Given the description of an element on the screen output the (x, y) to click on. 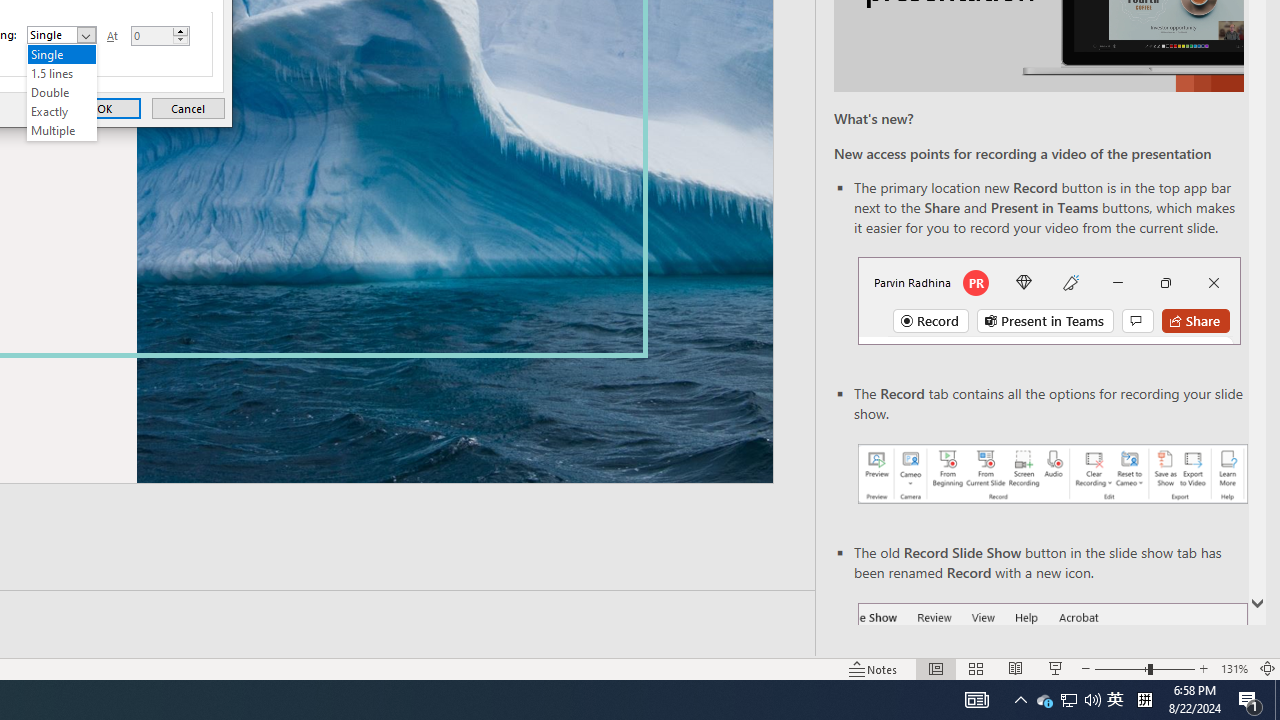
Zoom 131% (1234, 668)
Record button in top bar (1049, 300)
Li&ne Spacing: (61, 92)
Record your presentations screenshot one (1052, 473)
